Given the description of an element on the screen output the (x, y) to click on. 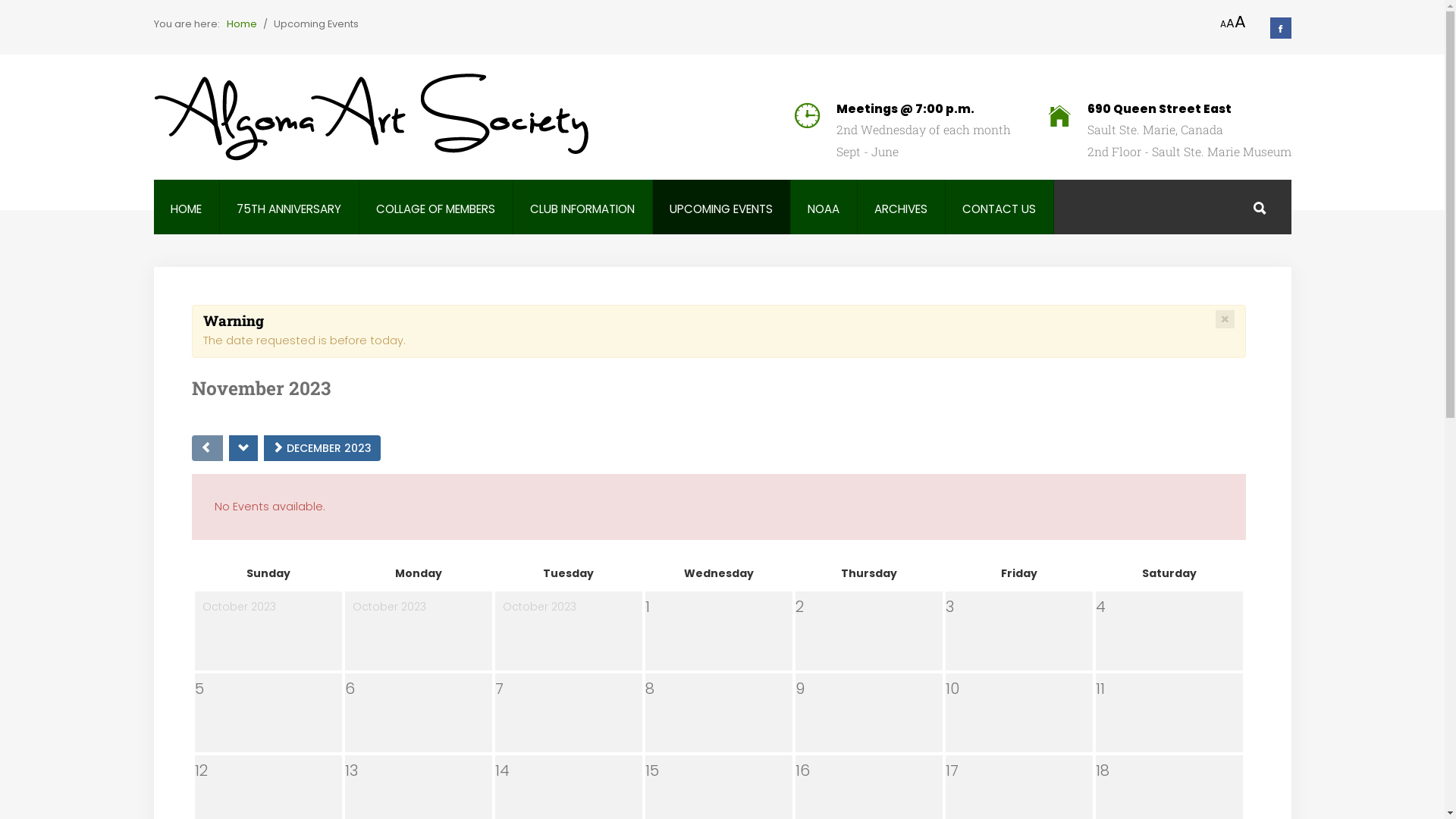
ARCHIVES Element type: text (900, 208)
CLUB INFORMATION Element type: text (582, 208)
ARCHIVES Element type: text (900, 208)
CONTACT US Element type: text (998, 208)
COLLAGE OF MEMBERS Element type: text (435, 208)
75TH ANNIVERSARY Element type: text (288, 208)
75TH ANNIVERSARY Element type: text (288, 208)
HOME Element type: text (185, 208)
A Element type: text (1229, 23)
COLLAGE OF MEMBERS Element type: text (435, 208)
A Element type: text (1222, 23)
UPCOMING EVENTS Element type: text (720, 208)
CLUB INFORMATION Element type: text (582, 208)
NOAA Element type: text (823, 208)
HOME Element type: text (185, 208)
DECEMBER 2023 Element type: text (321, 448)
UPCOMING EVENTS Element type: text (720, 208)
NOAA Element type: text (823, 208)
A Element type: text (1239, 21)
Home Element type: text (240, 23)
CONTACT US Element type: text (998, 208)
